Given the description of an element on the screen output the (x, y) to click on. 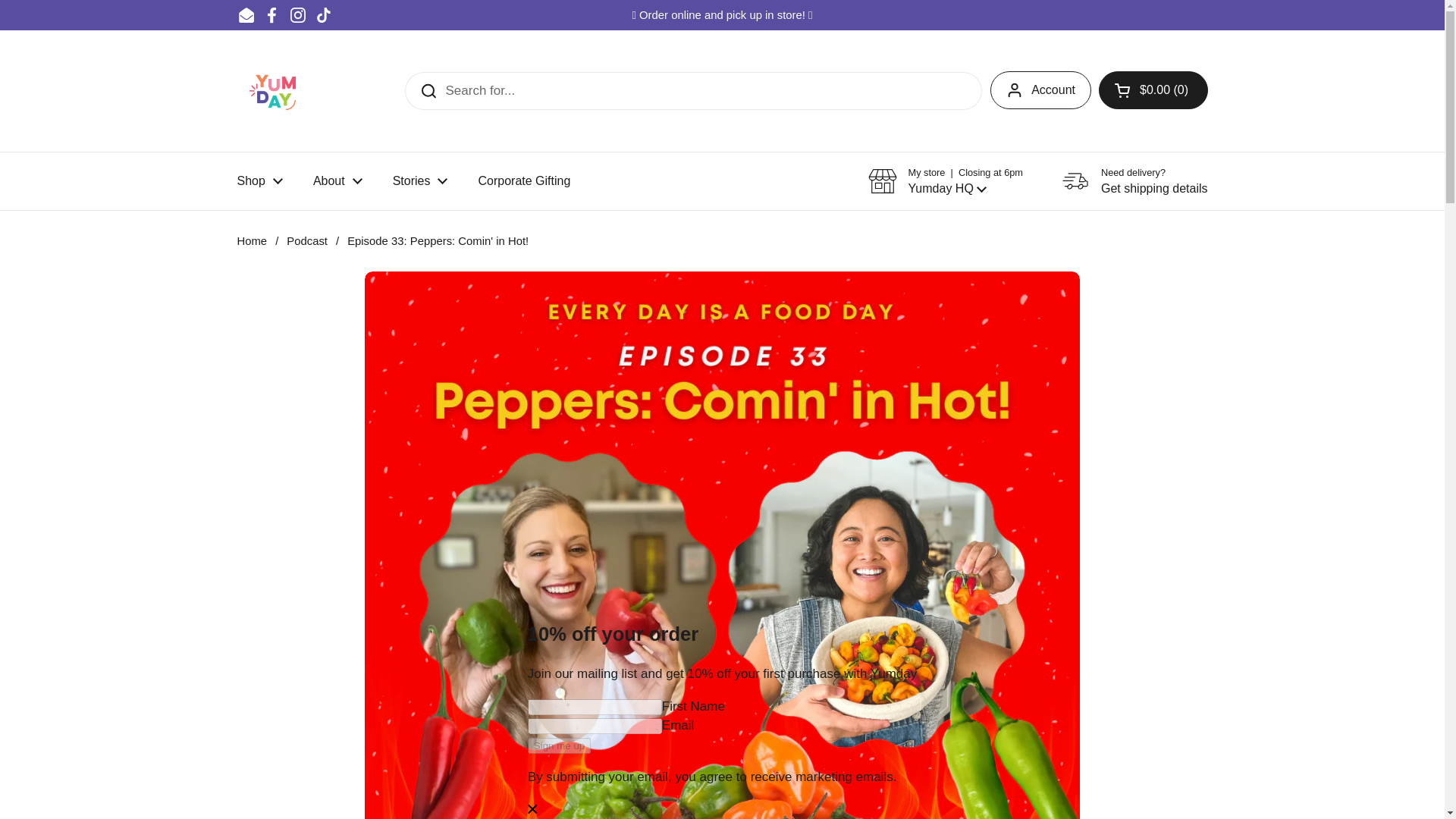
Stories (420, 181)
Instagram (296, 14)
Account (1040, 89)
Facebook (271, 14)
Shop (259, 181)
Yumday (1134, 181)
Skip to content (274, 90)
About (322, 14)
About (337, 181)
Open cart (337, 181)
Email (1153, 89)
Shop (244, 14)
Corporate Gifting (259, 181)
